Given the description of an element on the screen output the (x, y) to click on. 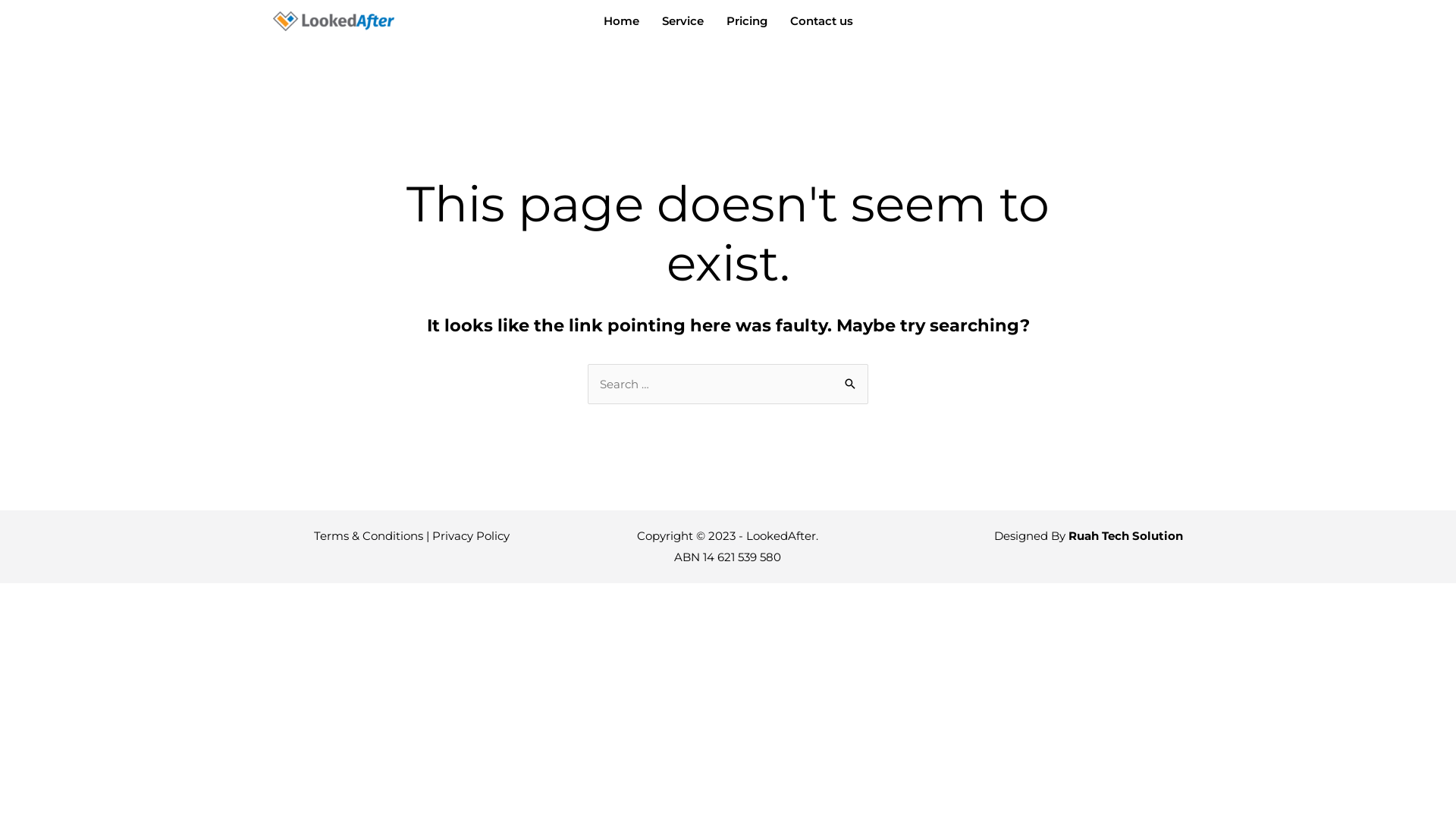
Contact us Element type: text (820, 20)
Terms & Conditions Element type: text (368, 535)
Ruah Tech Solution Element type: text (1125, 535)
Home Element type: text (620, 20)
Service Element type: text (682, 20)
Search Element type: text (851, 379)
Pricing Element type: text (746, 20)
Privacy Policy Element type: text (470, 535)
